Given the description of an element on the screen output the (x, y) to click on. 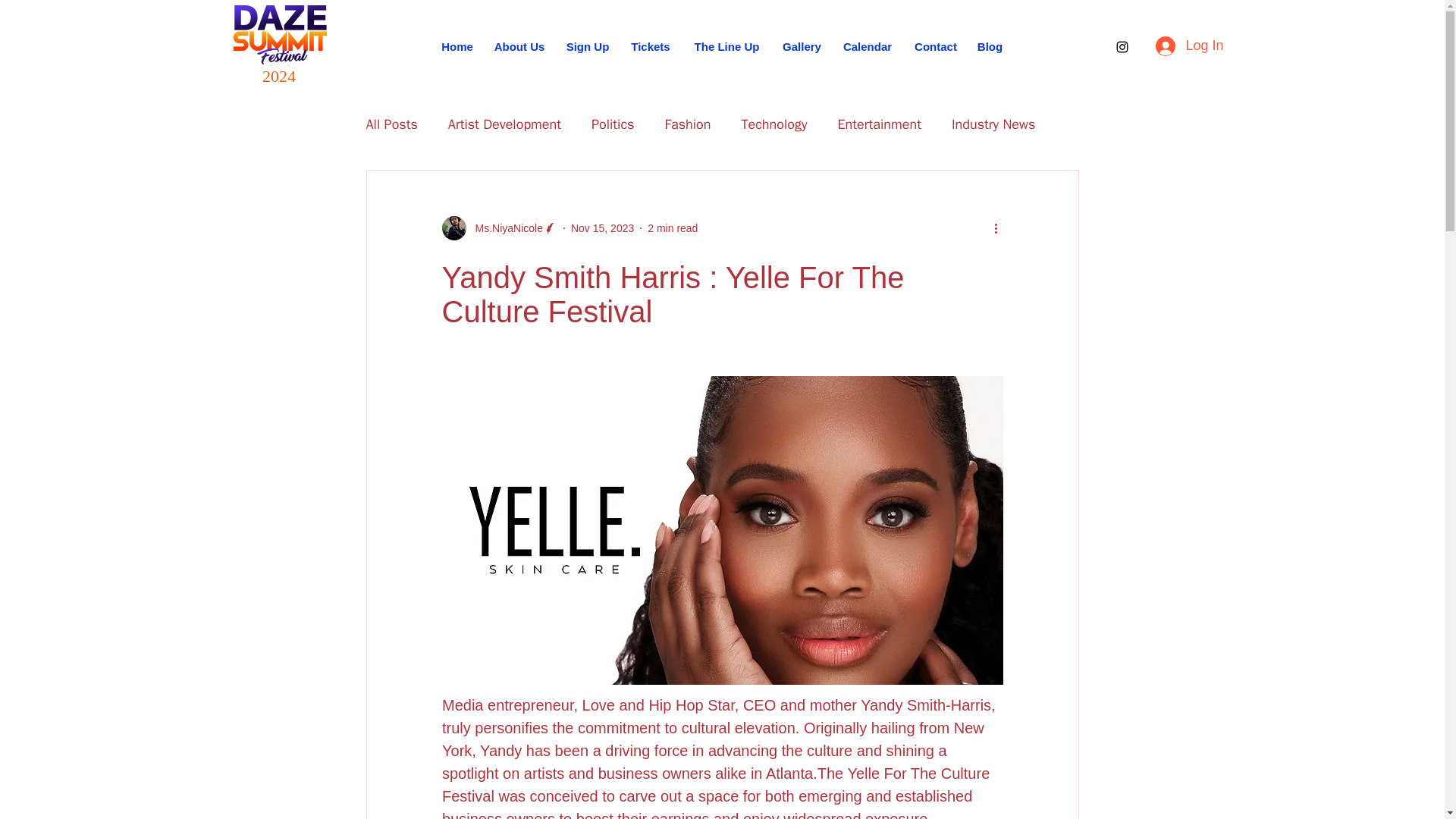
Fashion (686, 124)
Industry News (993, 124)
Tickets (650, 46)
Politics (612, 124)
About Us (519, 46)
Calendar (866, 46)
Ms.NiyaNicole (498, 228)
Artist Development (504, 124)
Entertainment (879, 124)
Log In (1176, 46)
The Line Up (726, 46)
Sign Up (588, 46)
Gallery (801, 46)
Technology (774, 124)
Blog (989, 46)
